Given the description of an element on the screen output the (x, y) to click on. 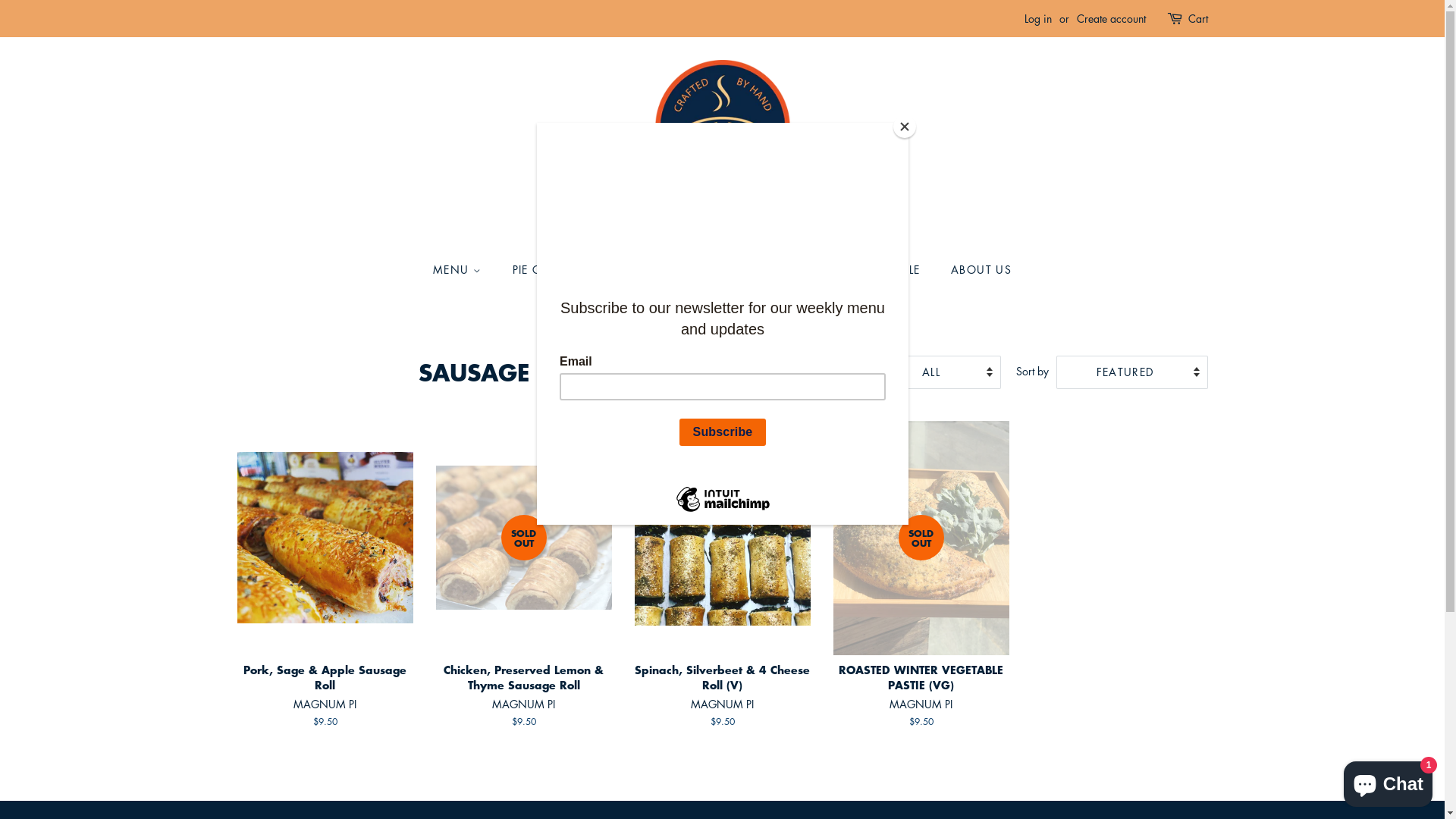
Home Element type: text (672, 326)
CONTACT Element type: text (792, 269)
Create account Element type: text (1110, 17)
Cart Element type: text (1197, 18)
Log in Element type: text (1037, 17)
MENU Element type: text (464, 269)
PIE GUIDE & HEATING INSTRUCTIONS Element type: text (623, 269)
WHOLESALE Element type: text (887, 269)
Shopify online store chat Element type: hover (1388, 780)
ABOUT US Element type: text (975, 269)
